Given the description of an element on the screen output the (x, y) to click on. 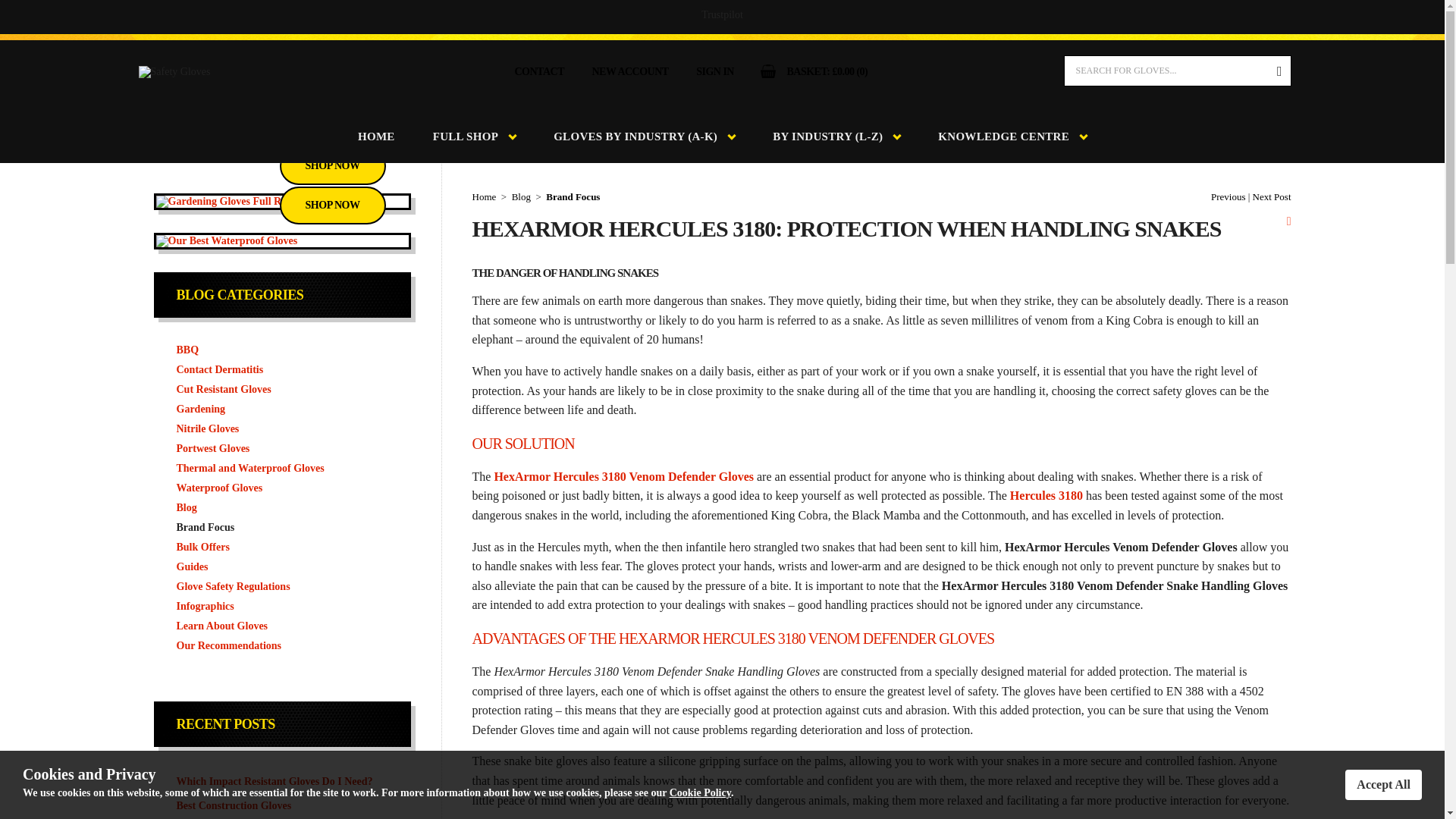
Learn About Gloves (281, 626)
Best Construction Gloves (281, 805)
Infographics (281, 606)
HexArmor Hercules 3180 Venom Defender Gloves (623, 476)
Waterproof Gloves (281, 487)
Gardening (281, 409)
Safety Gloves (173, 71)
Cut Resistant Gloves (281, 389)
Blog (281, 507)
SHOP NOW (332, 166)
